Given the description of an element on the screen output the (x, y) to click on. 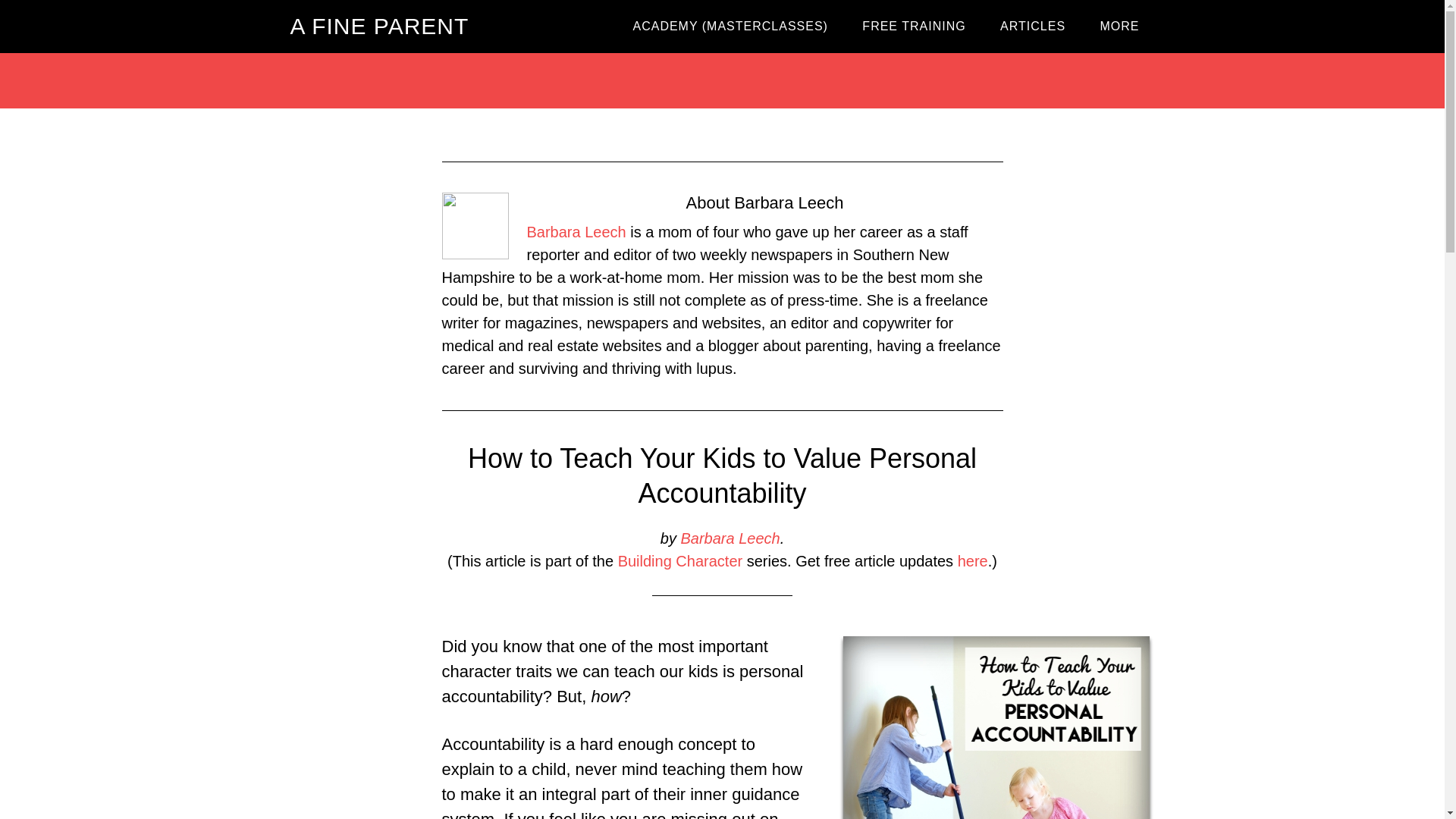
Building Character (679, 560)
Barbara Leech (575, 231)
FREE TRAINING (913, 26)
Barbara Leech (728, 538)
A FINE PARENT (378, 25)
ARTICLES (1032, 26)
here (973, 560)
How to Teach Your Kids to Value Personal Accountability (721, 476)
MORE (1119, 26)
